Given the description of an element on the screen output the (x, y) to click on. 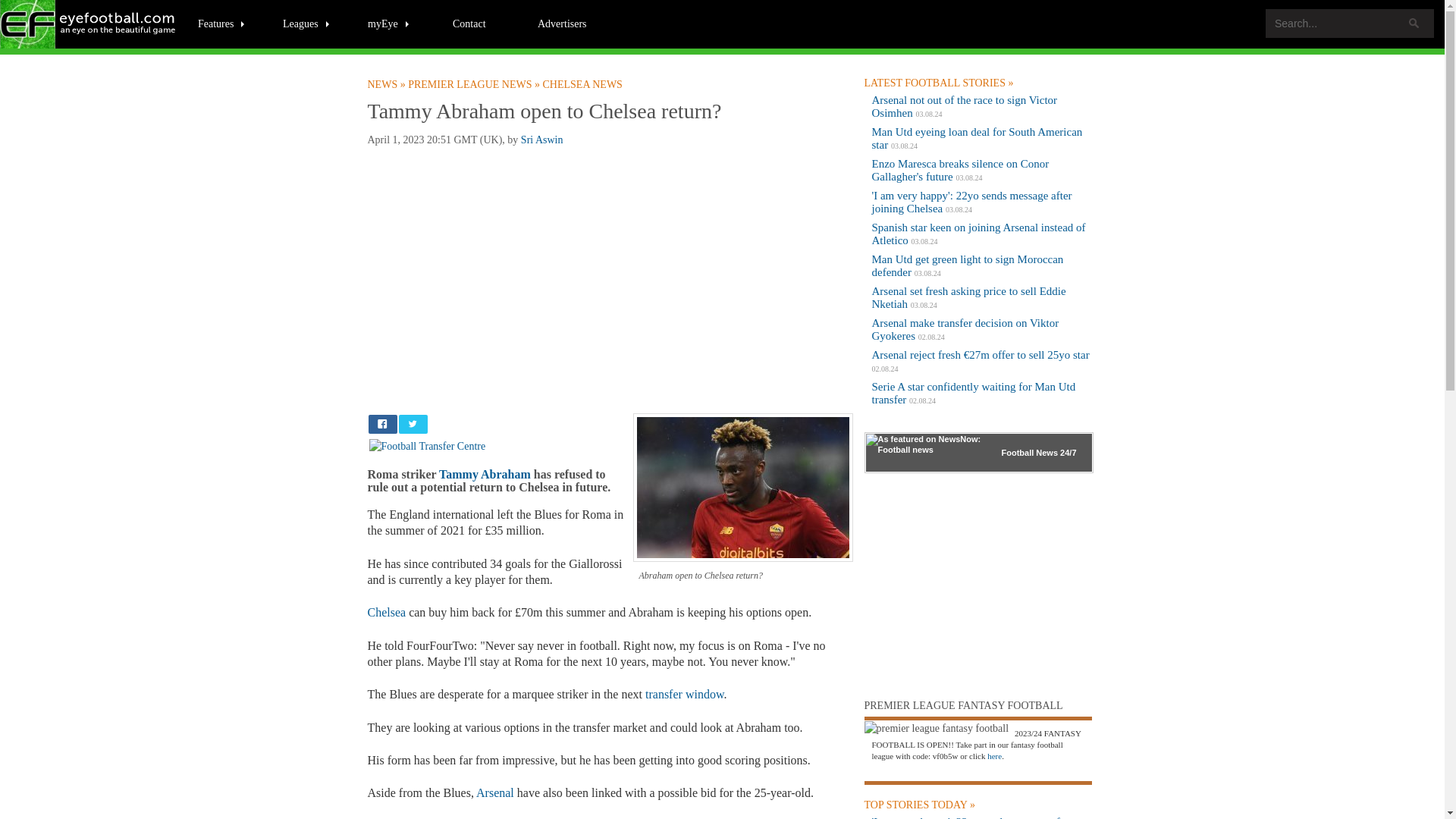
Advertisers (561, 23)
Search (1414, 22)
Premier League news (474, 84)
Arsenal (494, 792)
myEye (389, 23)
Search... (1349, 23)
Top (1407, 805)
Search (1414, 22)
Football News (88, 24)
Features (221, 23)
